Given the description of an element on the screen output the (x, y) to click on. 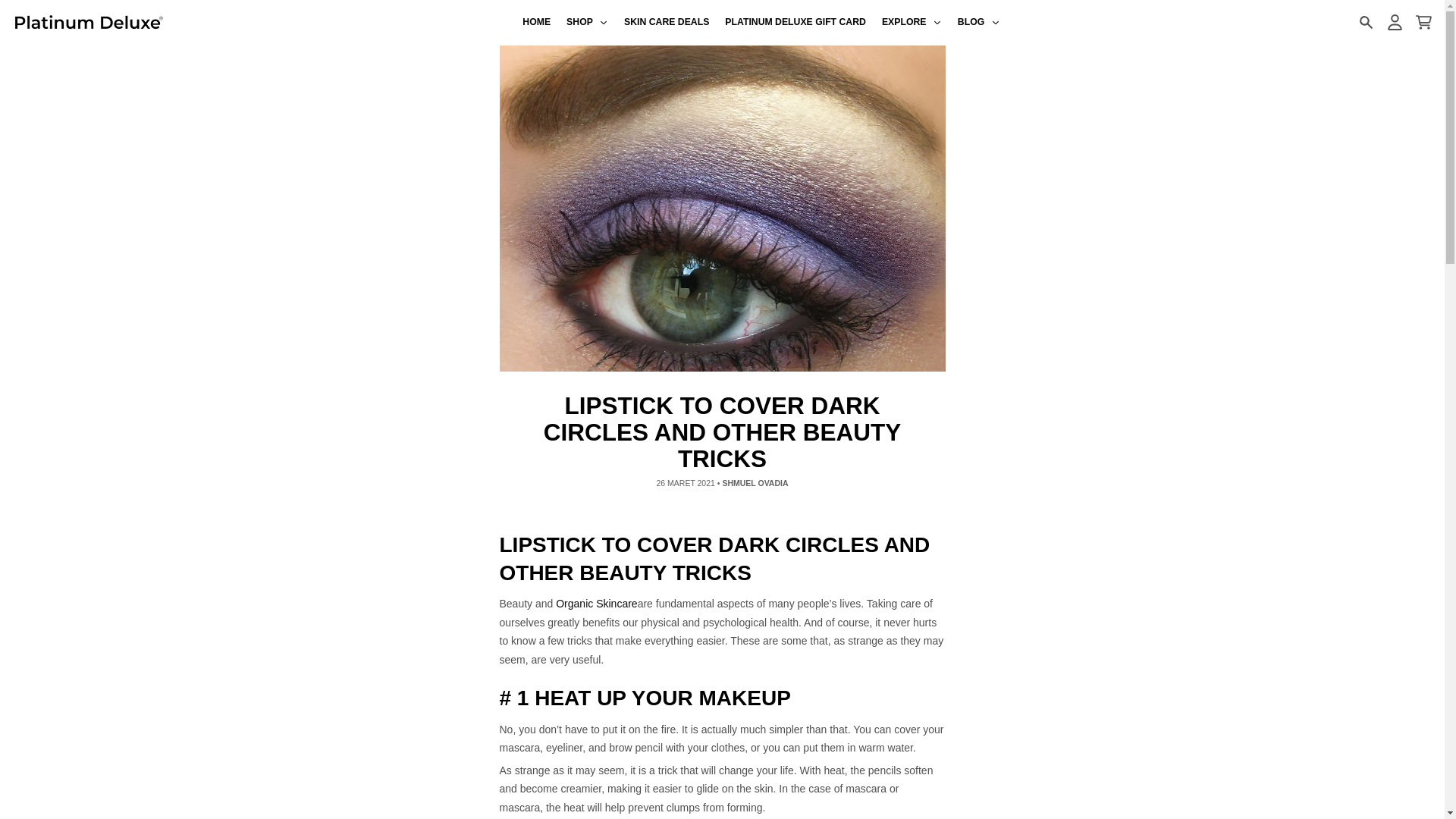
Skip to content (18, 7)
SKIN CARE DEALS (666, 22)
Cart (1423, 22)
PLATINUM DELUXE GIFT CARD (796, 22)
HOME (537, 22)
Search (1364, 22)
Account (1394, 22)
